Given the description of an element on the screen output the (x, y) to click on. 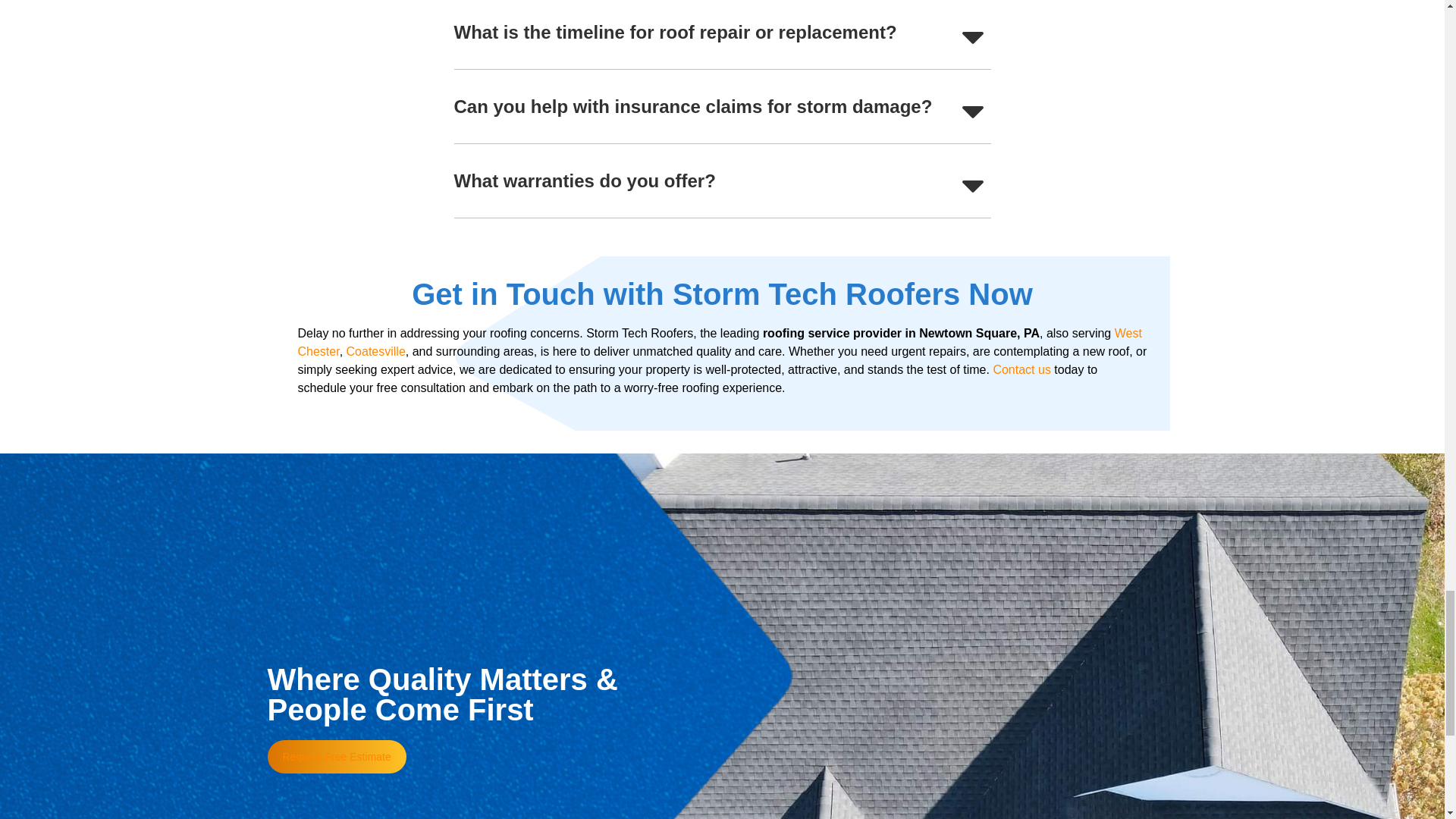
What warranties do you offer? (583, 180)
Contact us (1020, 369)
Coatesville (376, 350)
What is the timeline for roof repair or replacement? (674, 32)
Can you help with insurance claims for storm damage? (691, 106)
West Chester (719, 341)
